Given the description of an element on the screen output the (x, y) to click on. 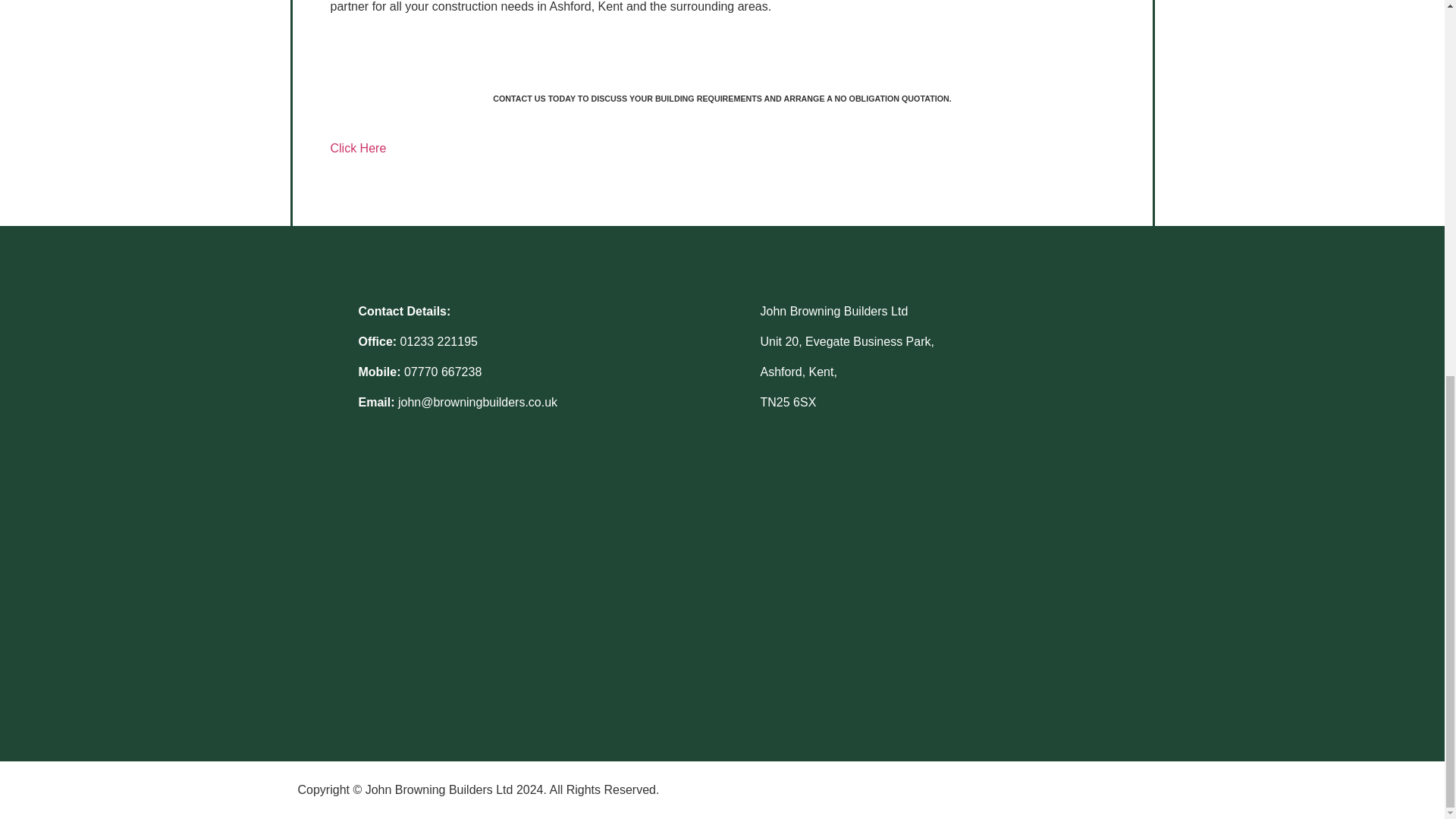
Renovations (722, 86)
New Builds (722, 99)
Click Here (358, 170)
